Given the description of an element on the screen output the (x, y) to click on. 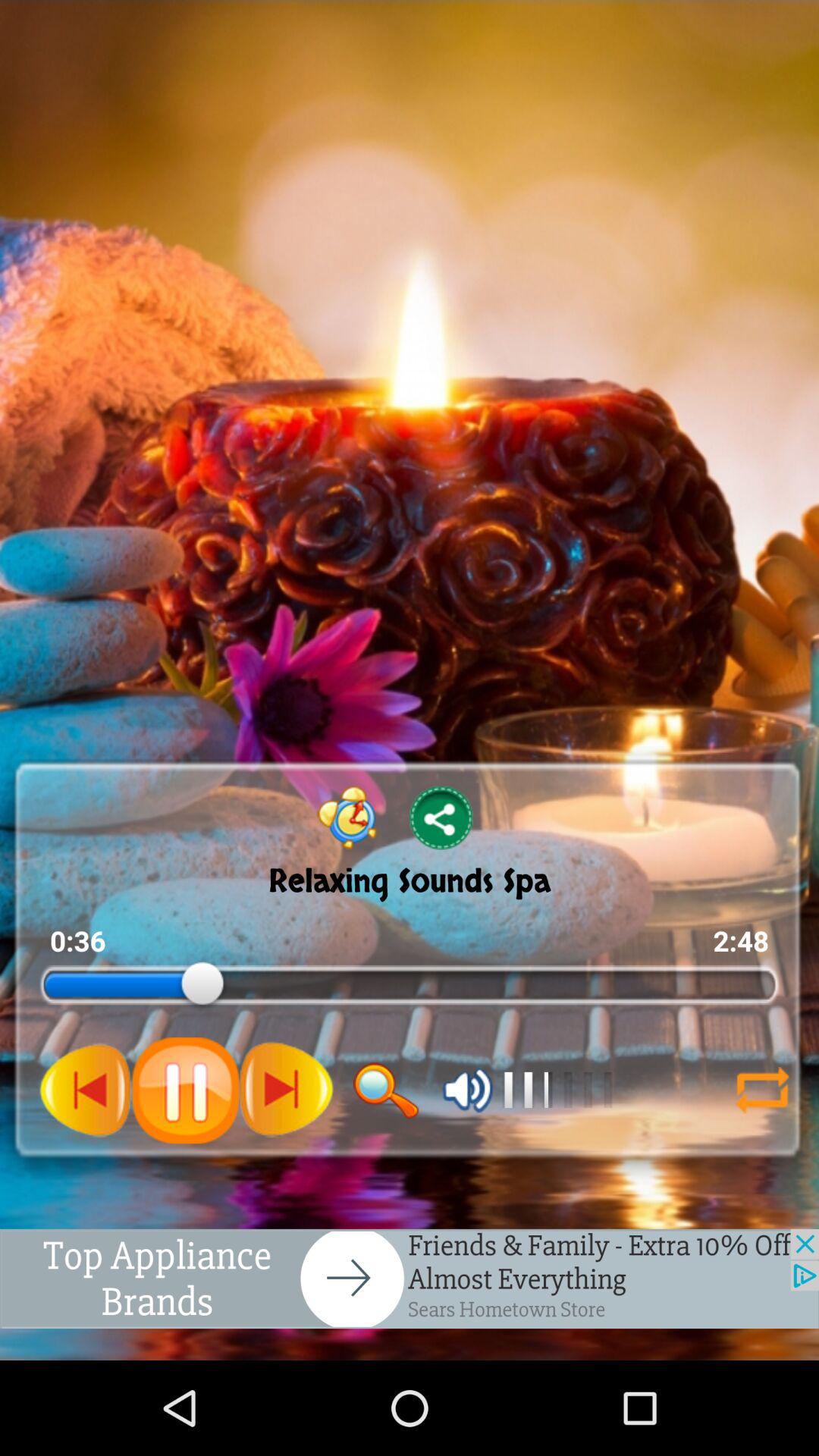
backfact (761, 1089)
